Given the description of an element on the screen output the (x, y) to click on. 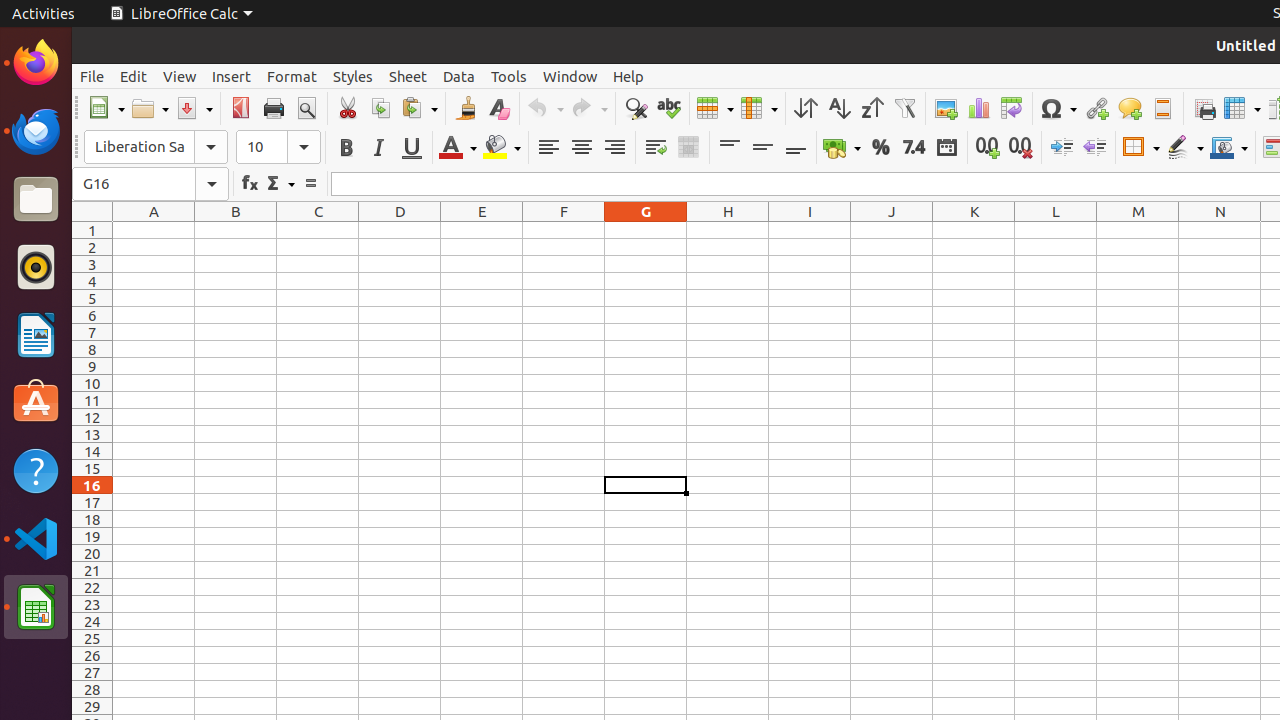
Underline Element type: push-button (411, 147)
Font Name Element type: combo-box (156, 147)
H1 Element type: table-cell (728, 230)
Tools Element type: menu (509, 76)
Date Element type: push-button (946, 147)
